Given the description of an element on the screen output the (x, y) to click on. 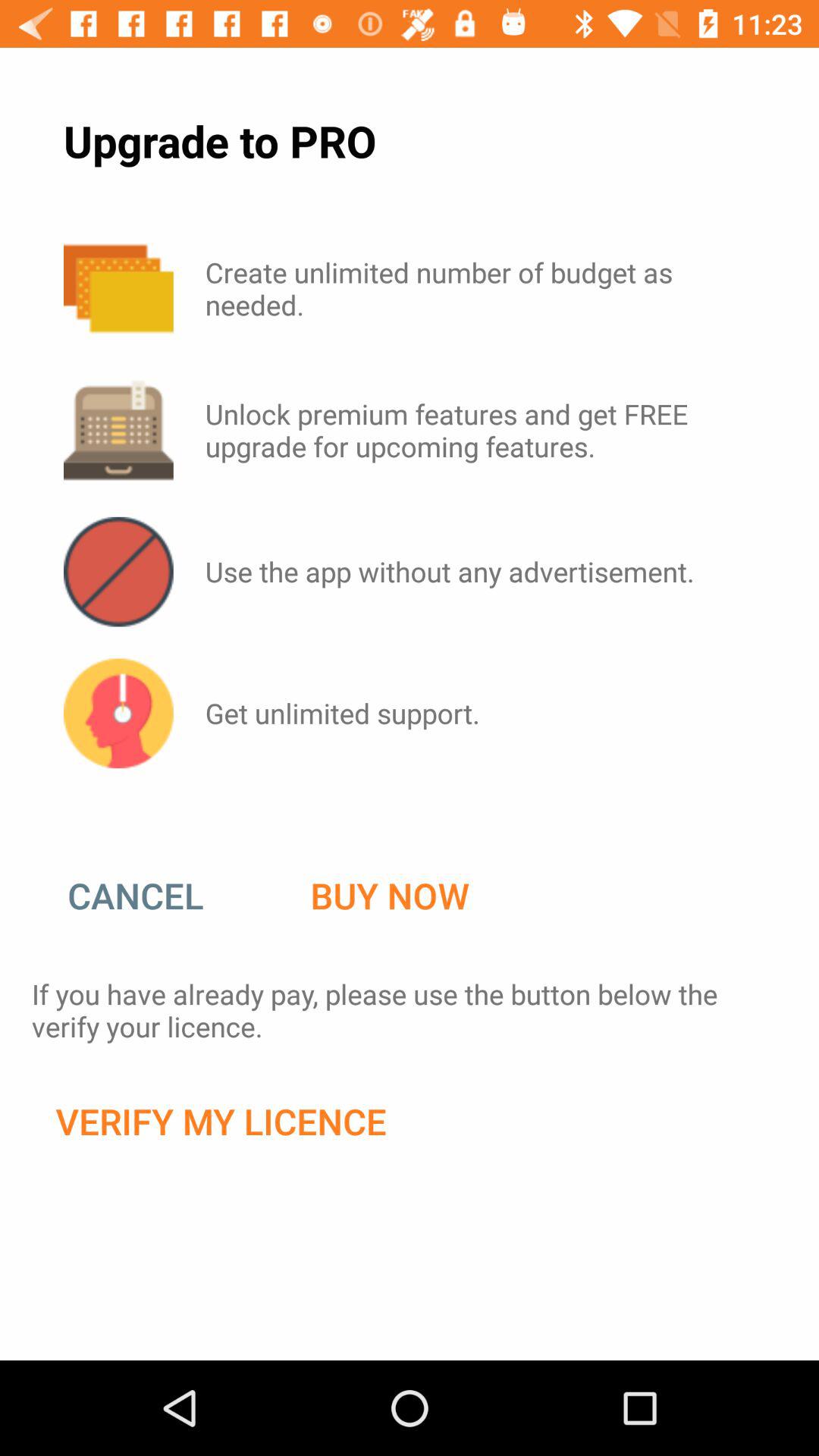
select item above the if you have item (150, 895)
